Given the description of an element on the screen output the (x, y) to click on. 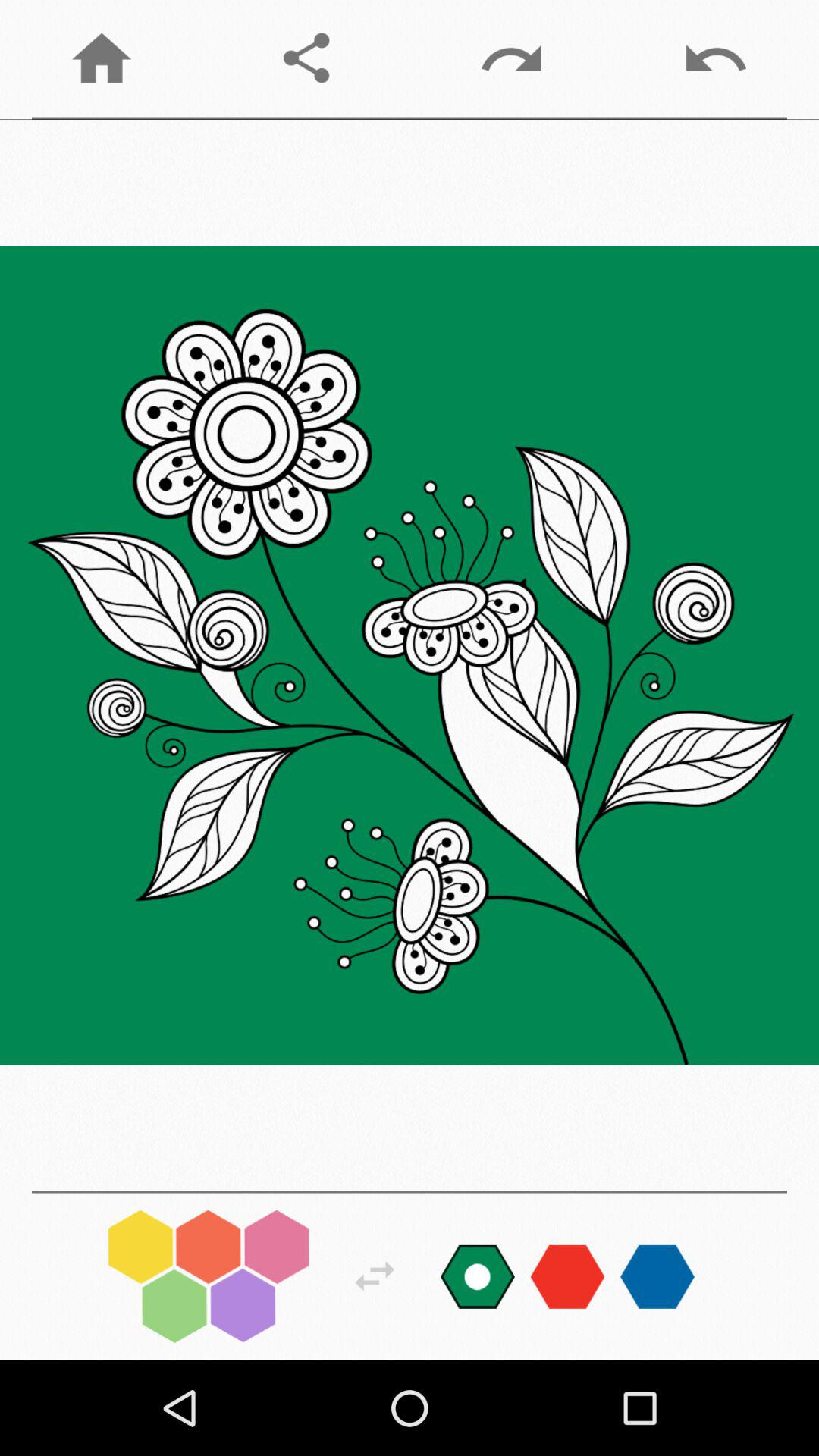
this button in bankspace (374, 1276)
